Given the description of an element on the screen output the (x, y) to click on. 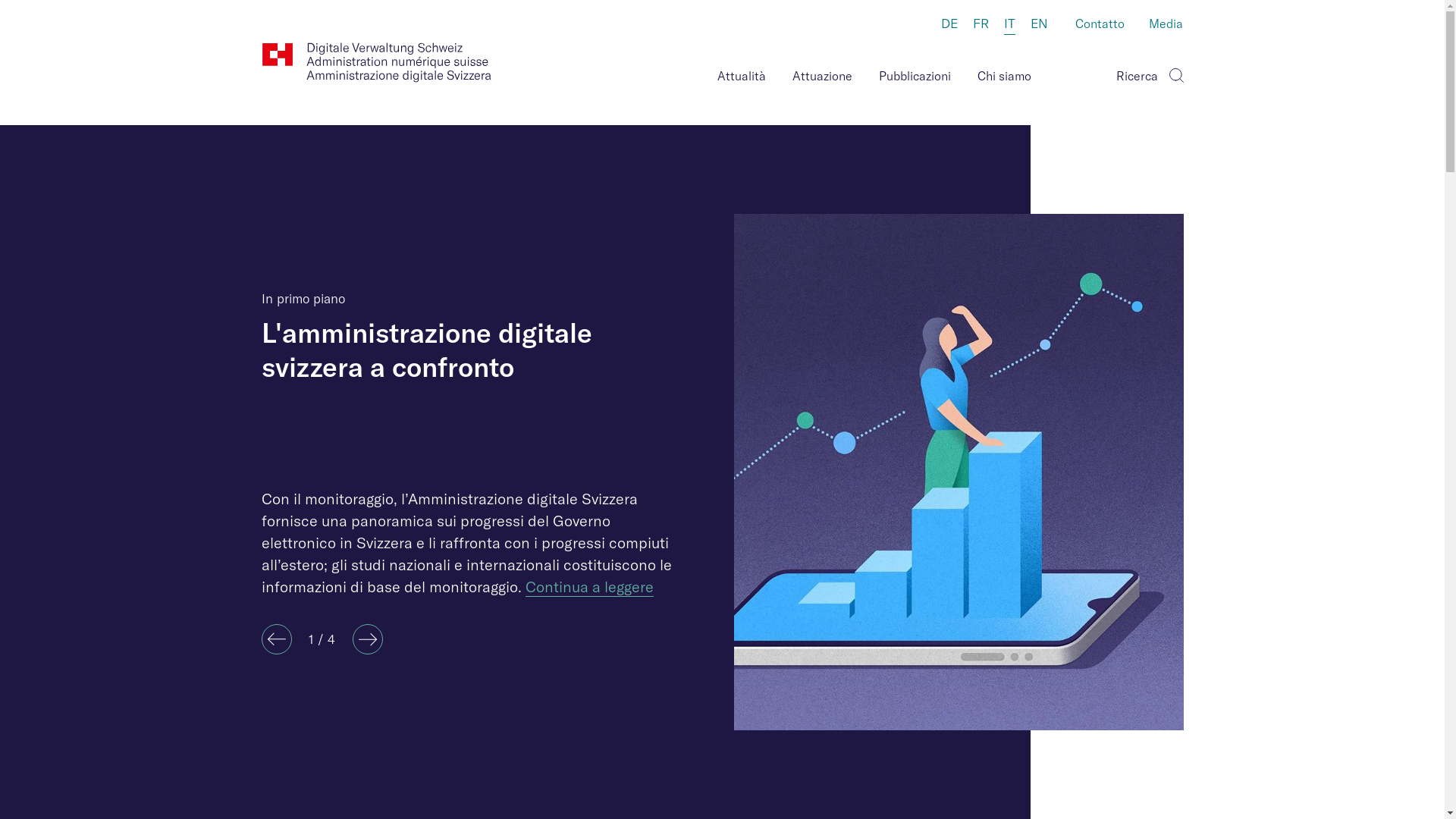
DE Element type: text (948, 24)
Media Element type: text (1165, 24)
Contatto Element type: text (1098, 24)
FR Element type: text (980, 24)
Cerca Element type: text (1174, 72)
Website Logo Element type: text (376, 62)
IT Element type: text (1009, 24)
EN Element type: text (1038, 24)
Continua a leggere Element type: text (588, 586)
